Given the description of an element on the screen output the (x, y) to click on. 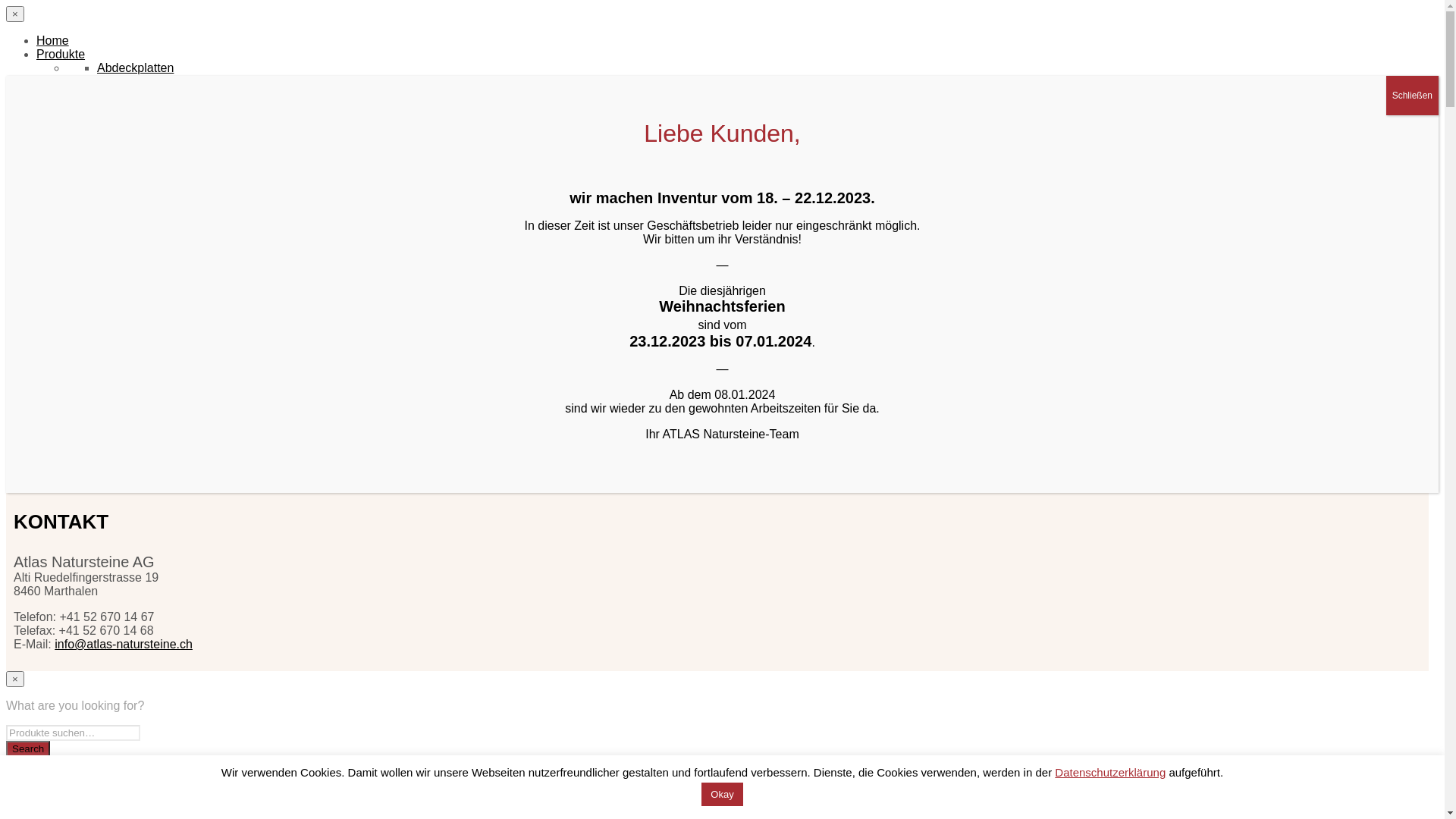
Verarbeitungsprodukte Element type: text (158, 285)
Deko und Gestaltung Element type: text (153, 122)
Karriere Element type: text (87, 381)
Produktkataloge Element type: text (80, 463)
Verblender Element type: text (126, 299)
Kontakt Element type: text (56, 435)
Kontaktpersonen Element type: text (112, 395)
Feinsteinzeug Element type: text (134, 162)
Bilder und Videos Element type: text (113, 422)
Bodenplatten/Terrassenplatten Element type: text (179, 108)
Aktuelles Element type: text (60, 340)
Pflaster Element type: text (117, 244)
Gartenmetall Element type: text (131, 176)
Indoor Element type: text (114, 190)
Wasser im Garten Element type: text (145, 313)
Reinigung/Pflege/Schutz Element type: text (163, 258)
Einfassungen Element type: text (133, 149)
Okay Element type: text (721, 794)
Produkte Element type: text (60, 53)
Pergola Element type: text (117, 231)
Licht und Sound im Garten Element type: text (169, 203)
Blockstufen Element type: text (128, 94)
Restpostenverkauf Element type: text (147, 326)
Search Element type: text (28, 748)
info@atlas-natursteine.ch Element type: text (123, 643)
Das sagen unsere Kunden Element type: text (138, 408)
Atlas Design Line Element type: text (144, 81)
Abdeckplatten Element type: text (135, 67)
Home Element type: text (52, 40)
Mauern Element type: text (117, 217)
Dekosplitt / Dekokies Element type: text (153, 135)
